Given the description of an element on the screen output the (x, y) to click on. 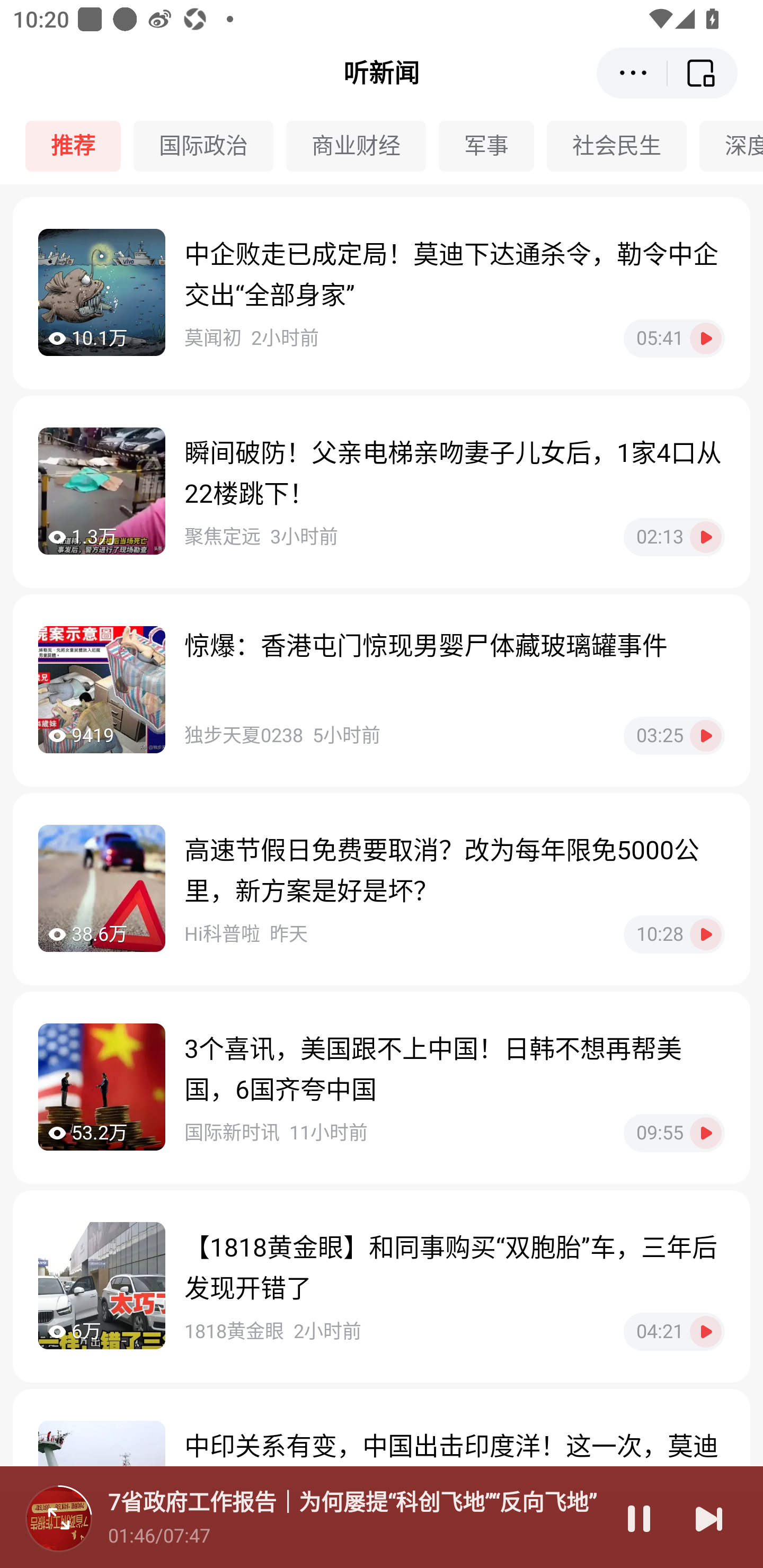
更多 (631, 72)
返回 (702, 72)
推荐 (79, 146)
国际政治 (209, 146)
商业财经 (362, 146)
军事 (492, 146)
社会民生 (623, 146)
10.1万 中企败走已成定局！莫迪下达通杀令，勒令中企交出“全部身家” 莫闻初2小时前 05:41 (381, 292)
05:41 (673, 338)
1.3万 瞬间破防！父亲电梯亲吻妻子儿女后，1家4口从22楼跳下！ 聚焦定远3小时前 02:13 (381, 491)
02:13 (673, 536)
9419 惊爆：香港屯门惊现男婴尸体藏玻璃罐事件 独步天夏02385小时前 03:25 (381, 690)
03:25 (673, 735)
10:28 (673, 934)
09:55 (673, 1132)
6万 【1818黄金眼】和同事购买“双胞胎”车，三年后发现开错了 1818黄金眼2小时前 04:21 (381, 1286)
04:21 (673, 1331)
41.1万 中印关系有变，中国出击印度洋！这一次，莫迪肯定挡不住了！ 广灵反邪教9小时前 08:46 (381, 1478)
音频播放页 7省政府工作报告｜为何屡提“科创飞地”“反向飞地” 01:46/07:47 暂停 下一篇 (381, 1517)
暂停 (638, 1518)
下一篇 (708, 1518)
